Given the description of an element on the screen output the (x, y) to click on. 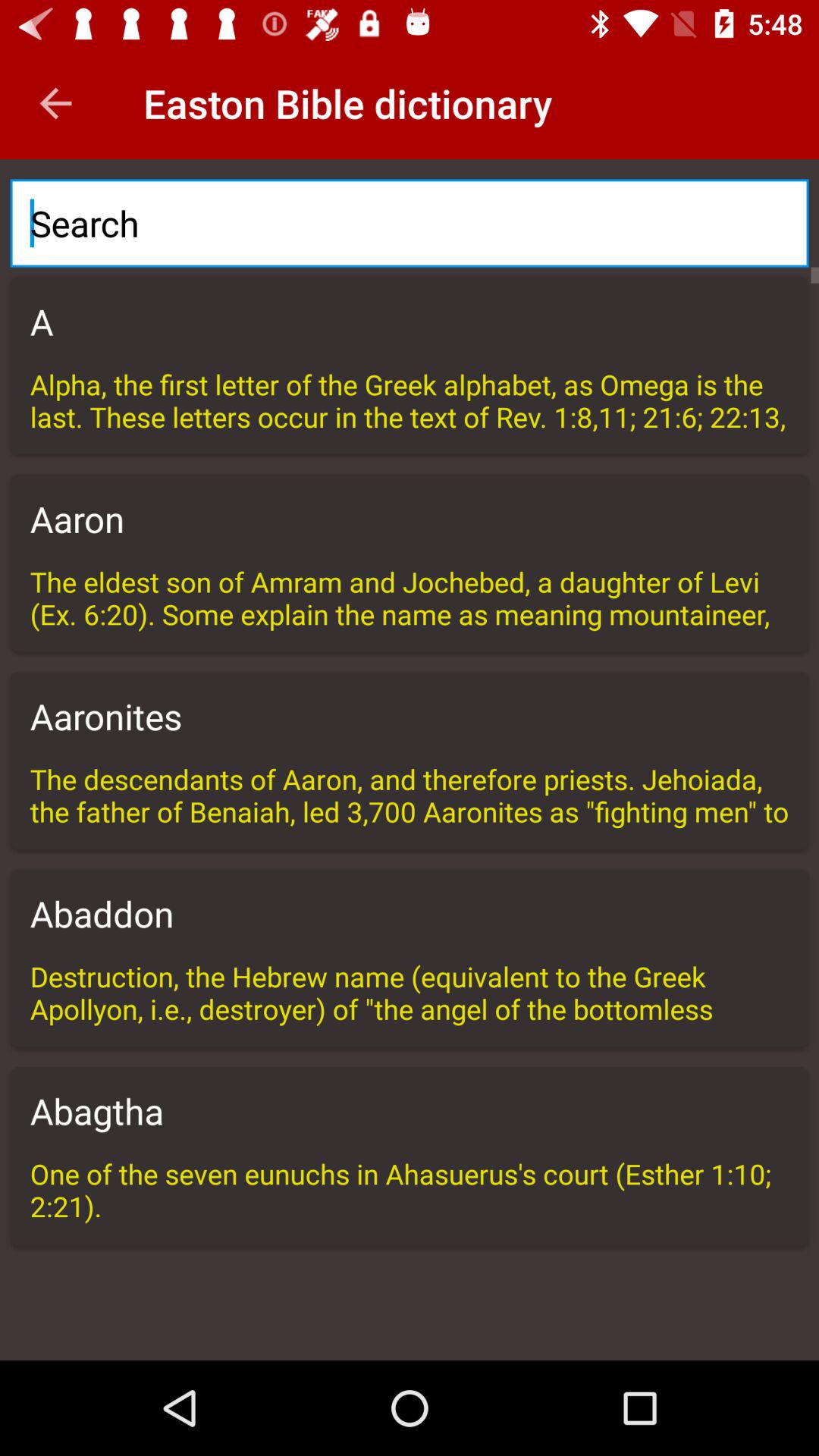
open item above the aaronites icon (409, 597)
